Given the description of an element on the screen output the (x, y) to click on. 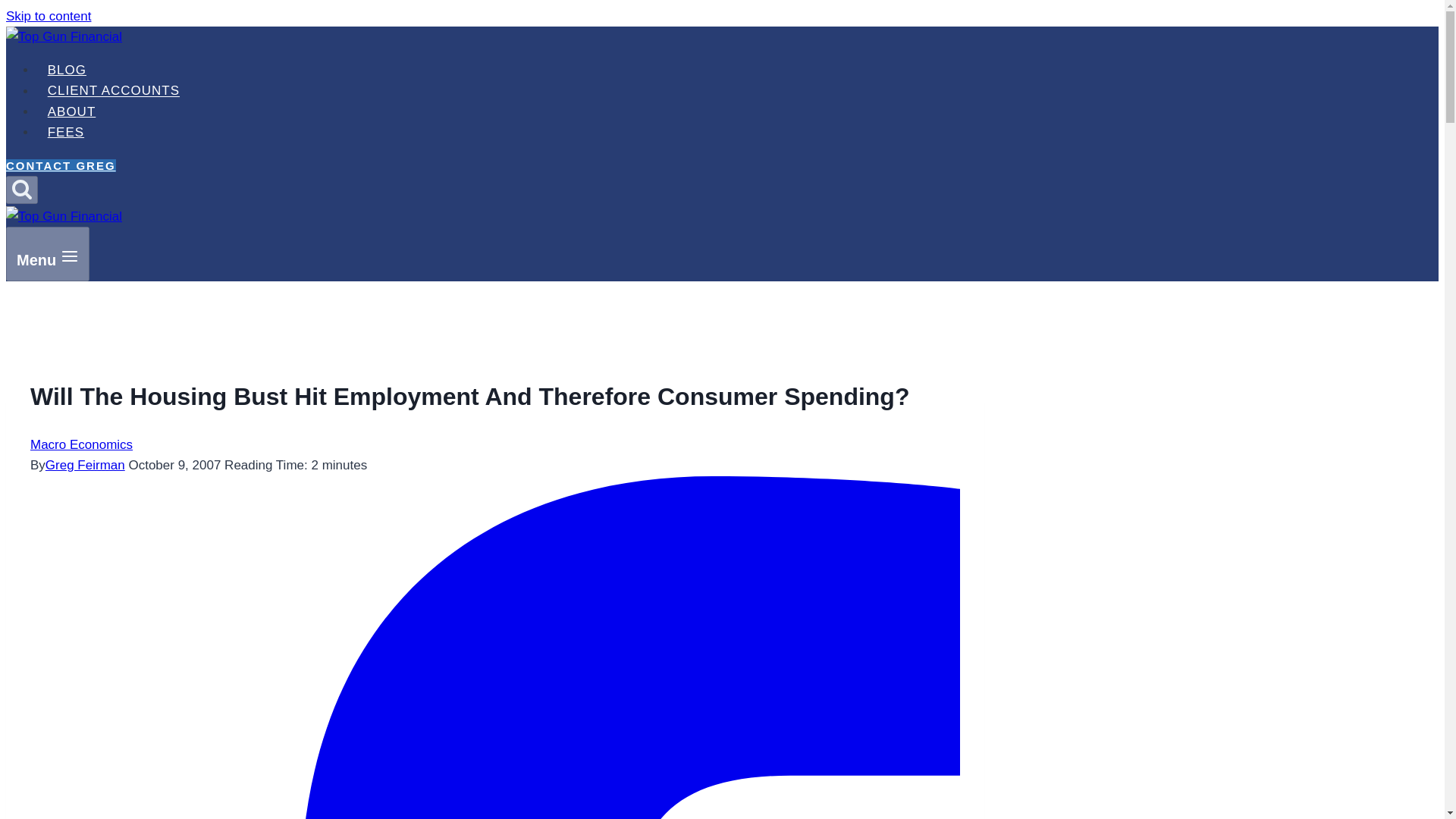
Search (21, 189)
BLOG (66, 70)
Greg Feirman (85, 464)
Search (21, 188)
CLIENT ACCOUNTS (113, 90)
Skip to content (47, 16)
Skip to content (47, 16)
CONTACT GREG (60, 164)
Toggle Menu (69, 256)
FEES (66, 132)
Macro Economics (81, 444)
ABOUT (71, 111)
Menu Toggle Menu (46, 253)
